Given the description of an element on the screen output the (x, y) to click on. 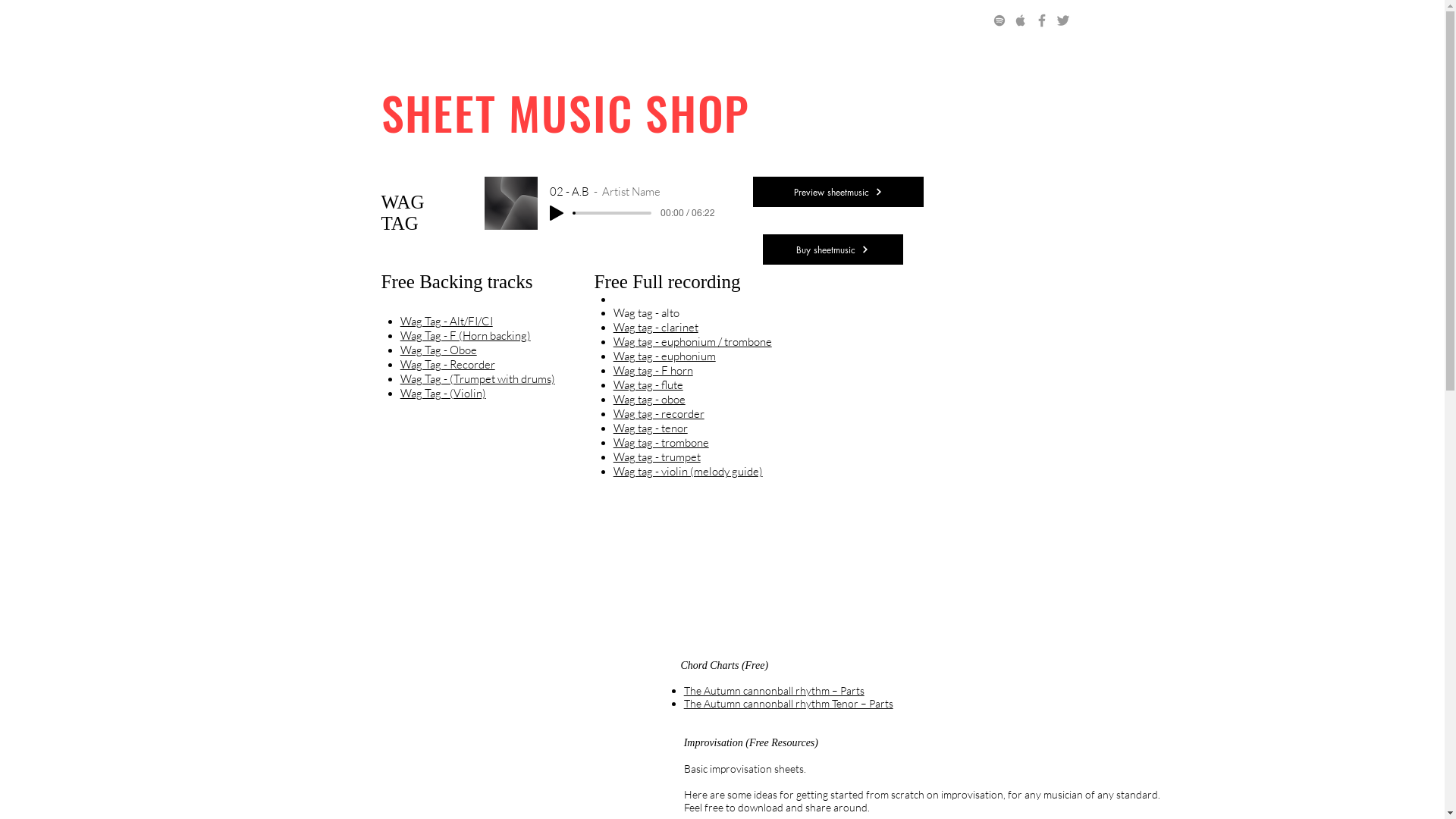
Wag Tag - (Trumpet with drums) Element type: text (477, 378)
Shop. Element type: text (606, 21)
CONTACT Element type: text (855, 21)
Wag tag - oboe Element type: text (649, 399)
Wag tag - clarinet Element type: text (655, 327)
Wag tag - F horn Element type: text (653, 370)
Wag Tag - Recorder Element type: text (447, 364)
Wag tag - tenor Element type: text (650, 427)
Wag tag - recorder Element type: text (658, 413)
Preview sheetmusic Element type: text (837, 191)
Buy sheetmusic Element type: text (832, 249)
Wag tag - violin (melody guide) Element type: text (687, 471)
Songs Element type: text (442, 21)
Wag tag - flute Element type: text (648, 384)
Wag Tag - Alt/FI/CI Element type: text (446, 320)
Wag tag - trumpet Element type: text (656, 456)
Free resources Element type: text (682, 21)
HOME Element type: text (387, 21)
THOUGHTS Element type: text (775, 21)
Wag tag - euphonium / trombone Element type: text (692, 341)
BIO and Clinician Element type: text (526, 21)
Wag Tag - F (Horn backing) Element type: text (465, 335)
Wag tag - trombone Element type: text (661, 442)
Wag tag - euphonium Element type: text (664, 355)
Wag Tag - Oboe Element type: text (438, 349)
Wag Tag - (Violin) Element type: text (443, 392)
